Given the description of an element on the screen output the (x, y) to click on. 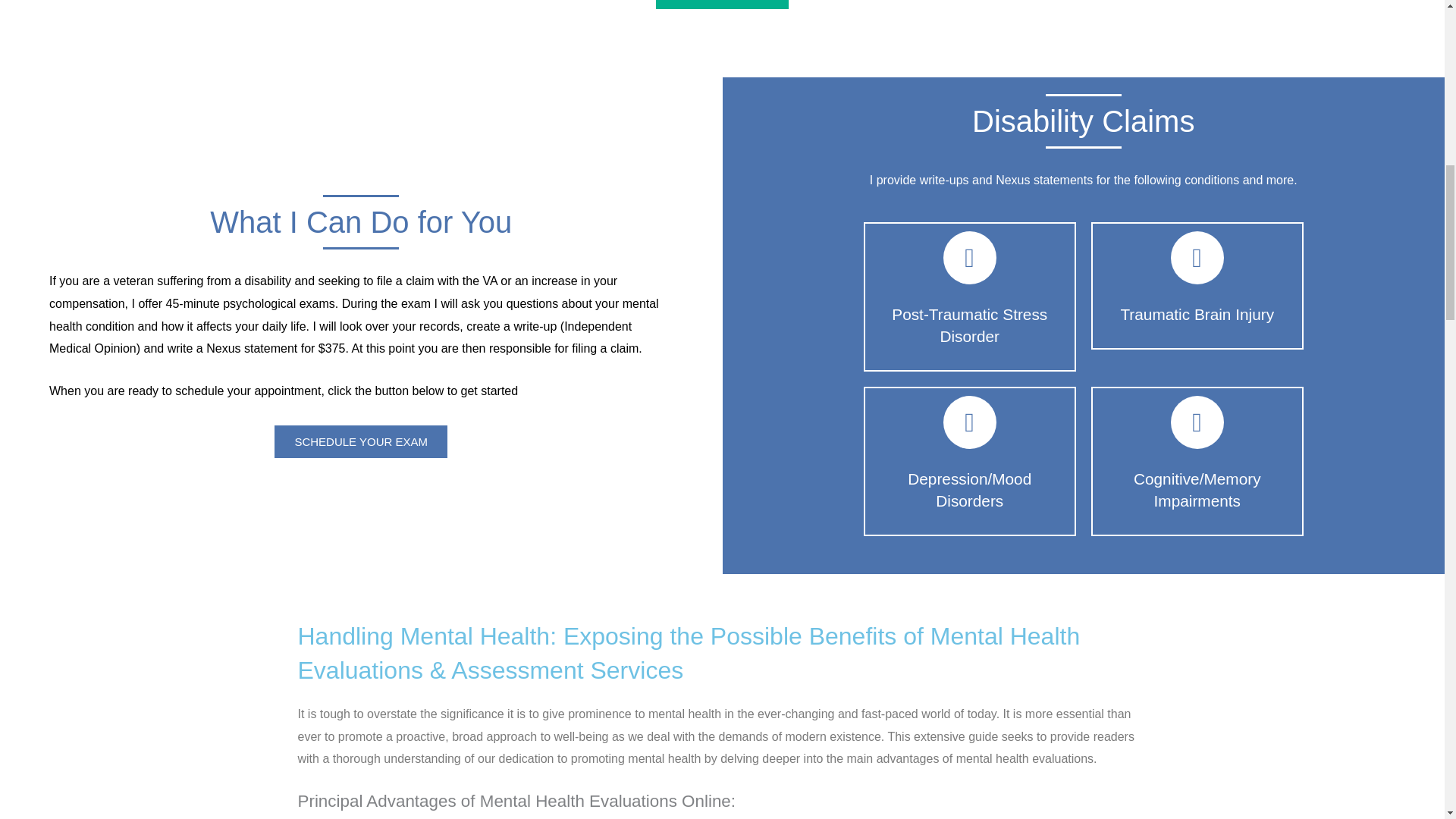
READ MY STORY (722, 4)
SCHEDULE YOUR EXAM (360, 441)
